Given the description of an element on the screen output the (x, y) to click on. 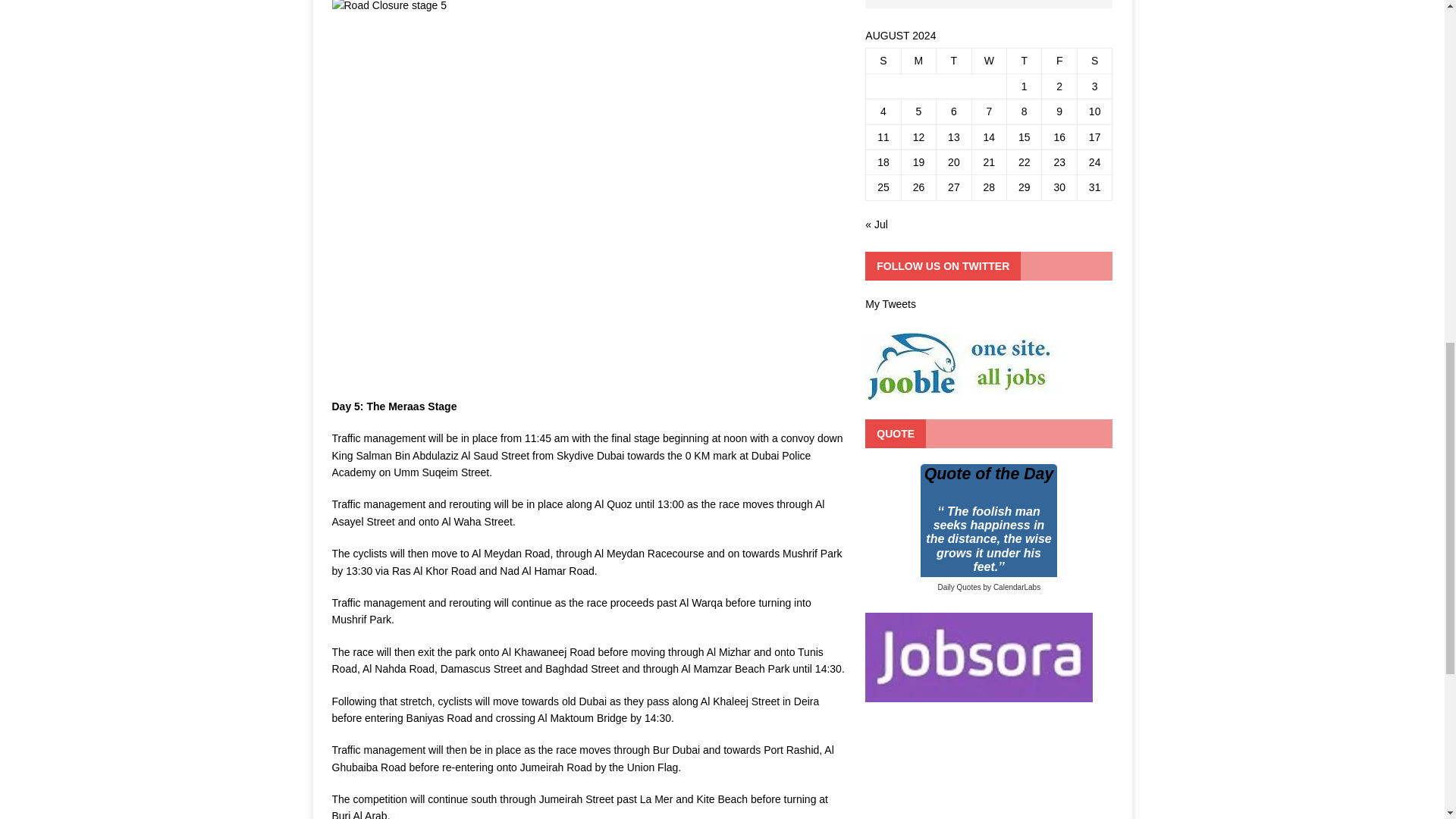
Monday (918, 60)
Tuesday (953, 60)
Sunday (883, 60)
Wednesday (988, 60)
Thursday (1024, 60)
